Given the description of an element on the screen output the (x, y) to click on. 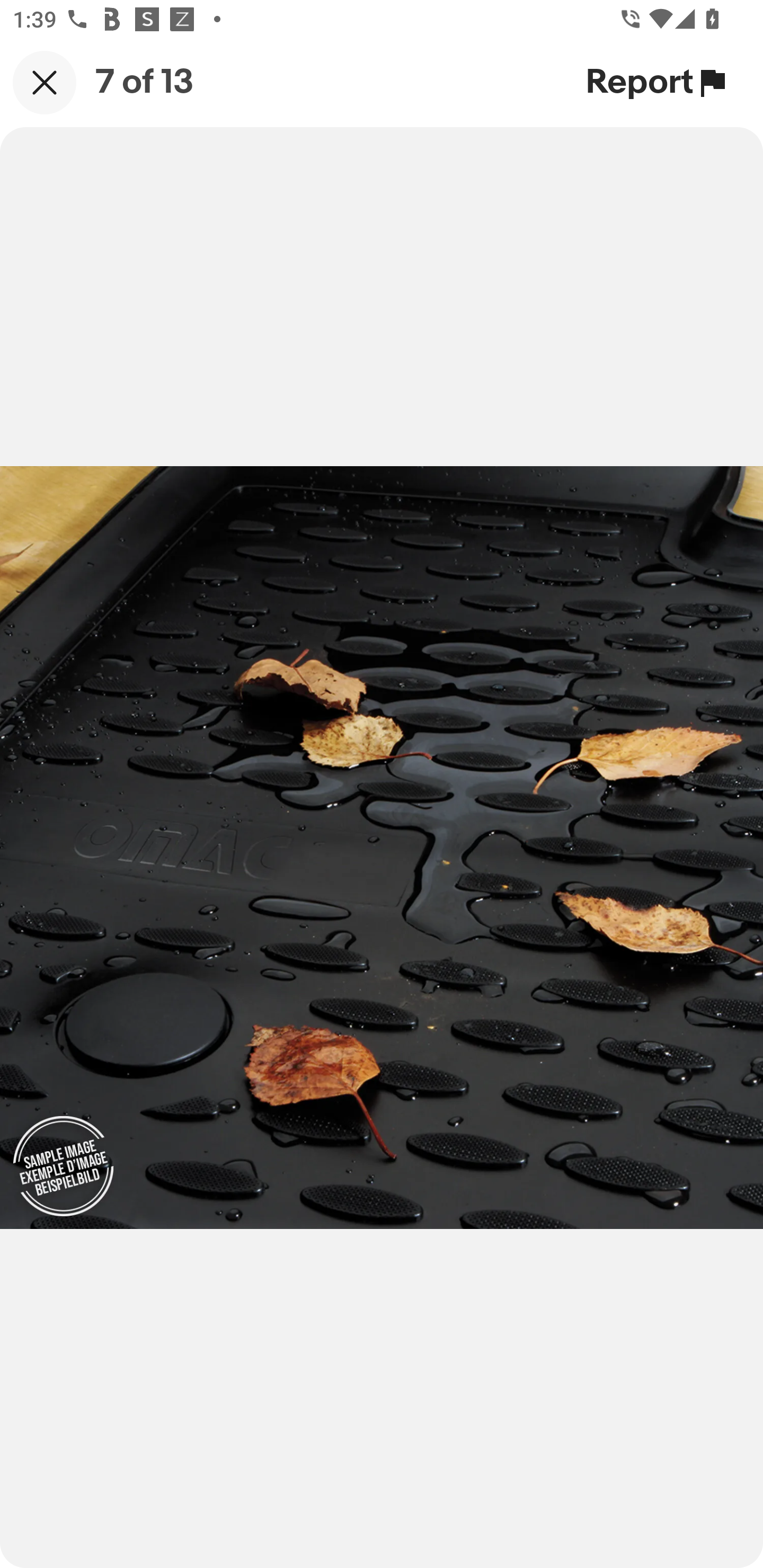
Close (44, 82)
Report Report this item (658, 82)
